Given the description of an element on the screen output the (x, y) to click on. 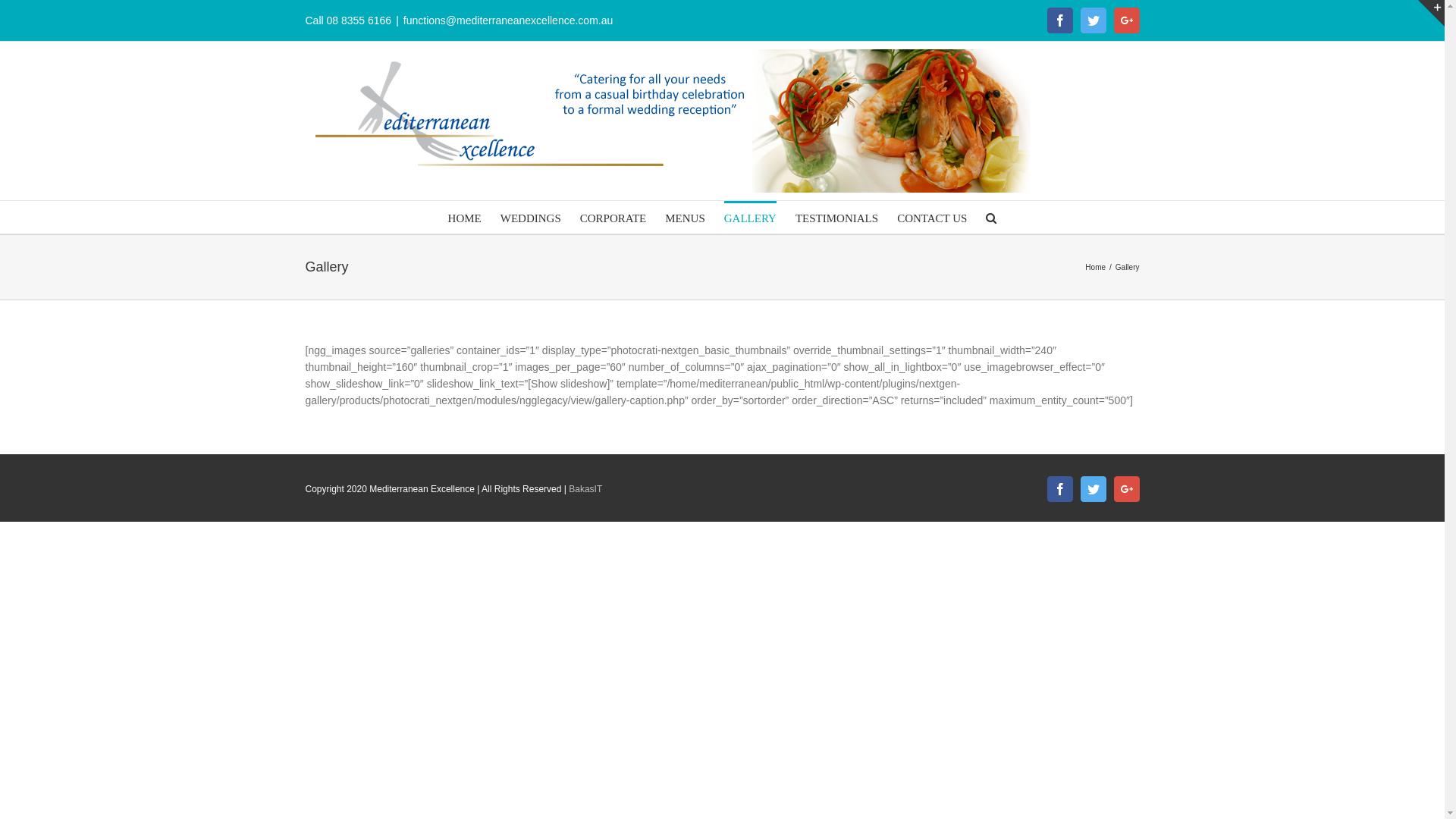
BakasIT Element type: text (585, 488)
Home Element type: text (1095, 266)
HOME Element type: text (464, 216)
Facebook Element type: text (1059, 20)
functions@mediterraneanexcellence.com.au Element type: text (507, 20)
Google+ Element type: text (1126, 489)
Facebook Element type: text (1059, 489)
TESTIMONIALS Element type: text (836, 216)
MENUS Element type: text (685, 216)
Google+ Element type: text (1126, 20)
GALLERY Element type: text (750, 216)
CORPORATE Element type: text (613, 216)
CONTACT US Element type: text (931, 216)
Twitter Element type: text (1092, 489)
WEDDINGS Element type: text (530, 216)
Twitter Element type: text (1092, 20)
